Given the description of an element on the screen output the (x, y) to click on. 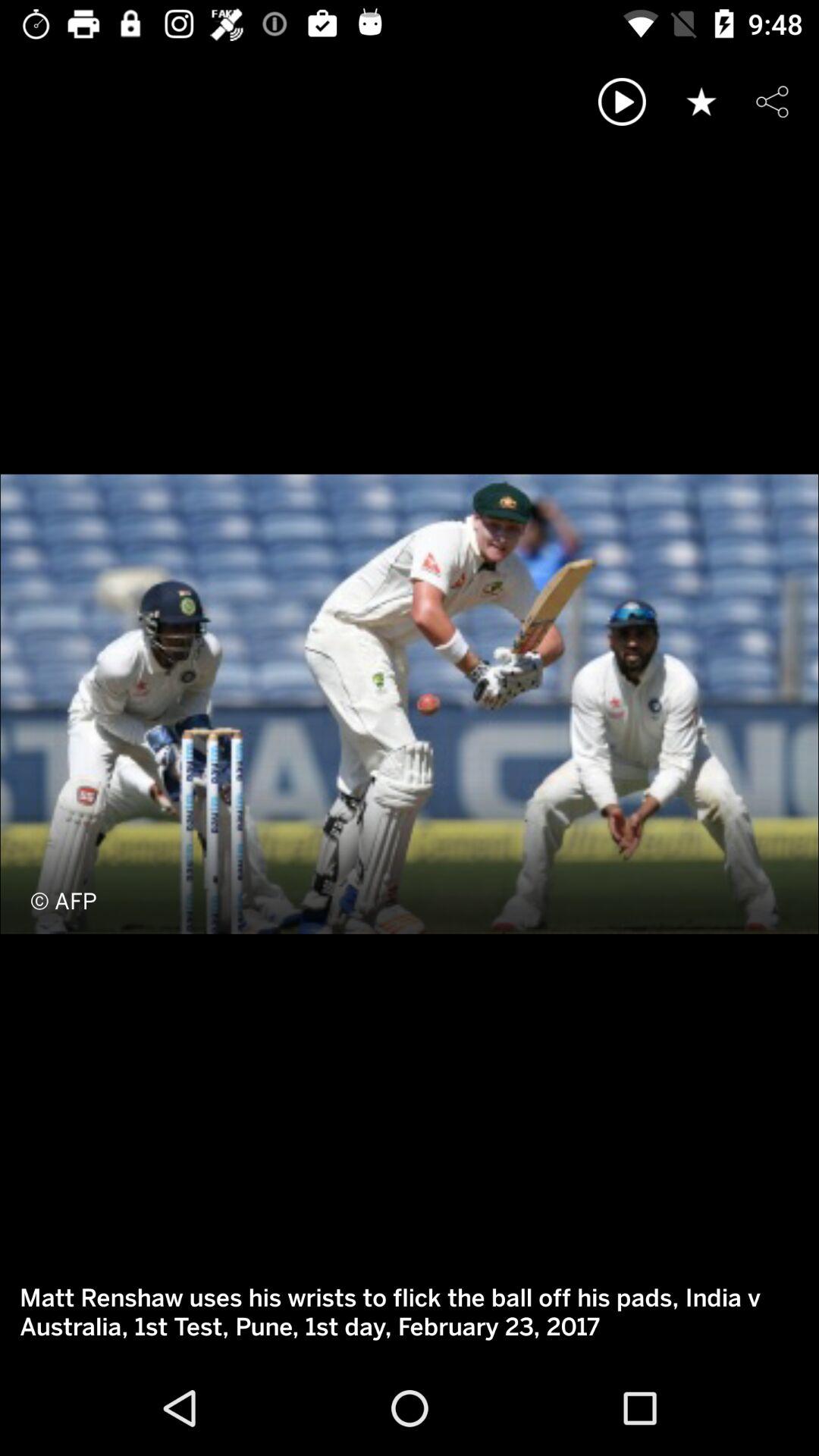
play slideshow (622, 101)
